Given the description of an element on the screen output the (x, y) to click on. 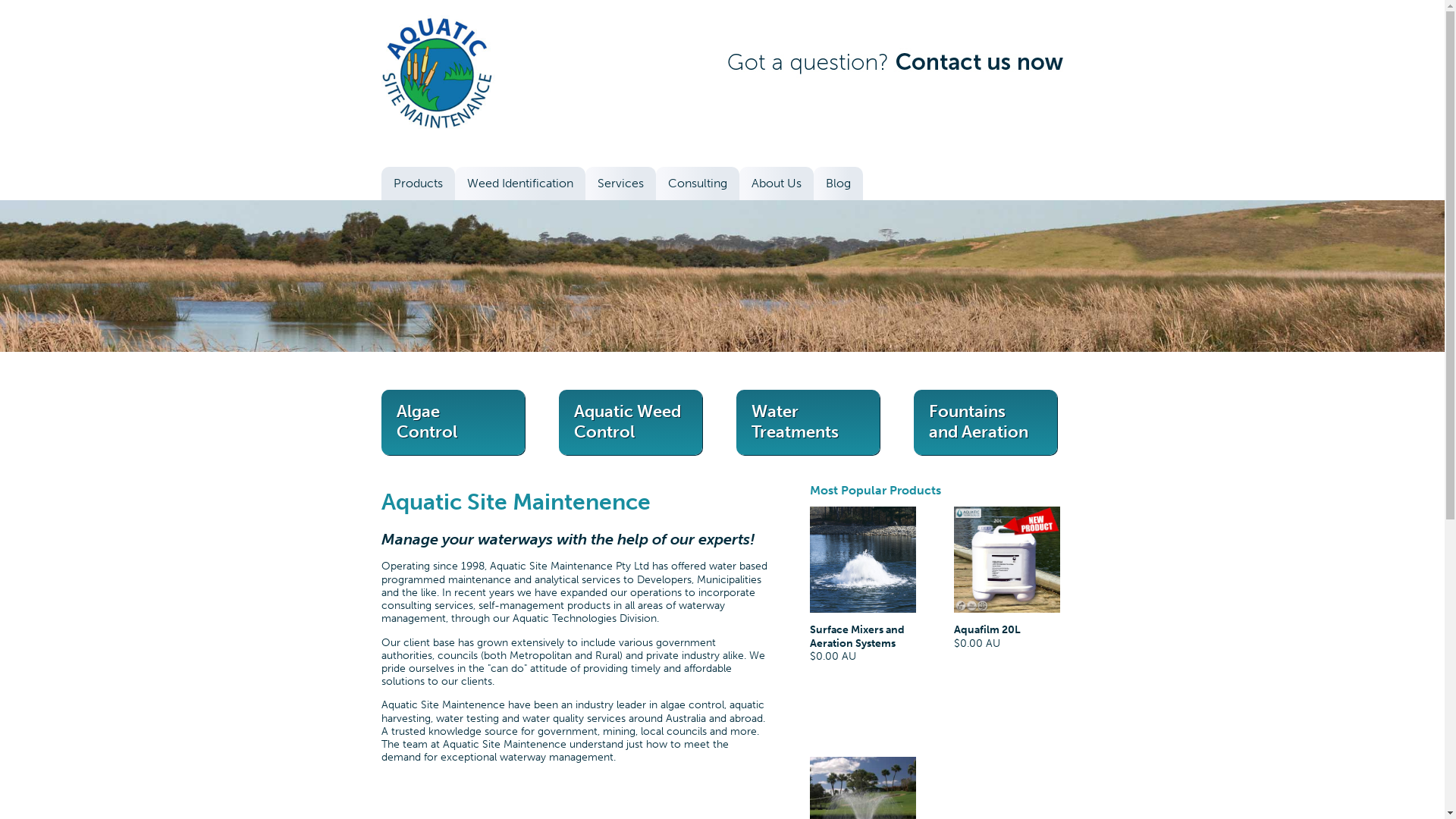
Algae
Control Element type: text (452, 419)
Weed Identification Element type: text (520, 183)
Aquatic Weed
Control Element type: text (630, 419)
Fountains
and Aeration Element type: text (985, 419)
Water
Treatments Element type: text (807, 419)
Blog Element type: text (837, 183)
Services Element type: text (620, 183)
Aquafilm 20L
$0.00 AU Element type: text (1006, 600)
Products Element type: text (417, 183)
Surface Mixers and Aeration Systems
$0.00 AU Element type: text (862, 607)
About Us Element type: text (775, 183)
Consulting Element type: text (696, 183)
